Given the description of an element on the screen output the (x, y) to click on. 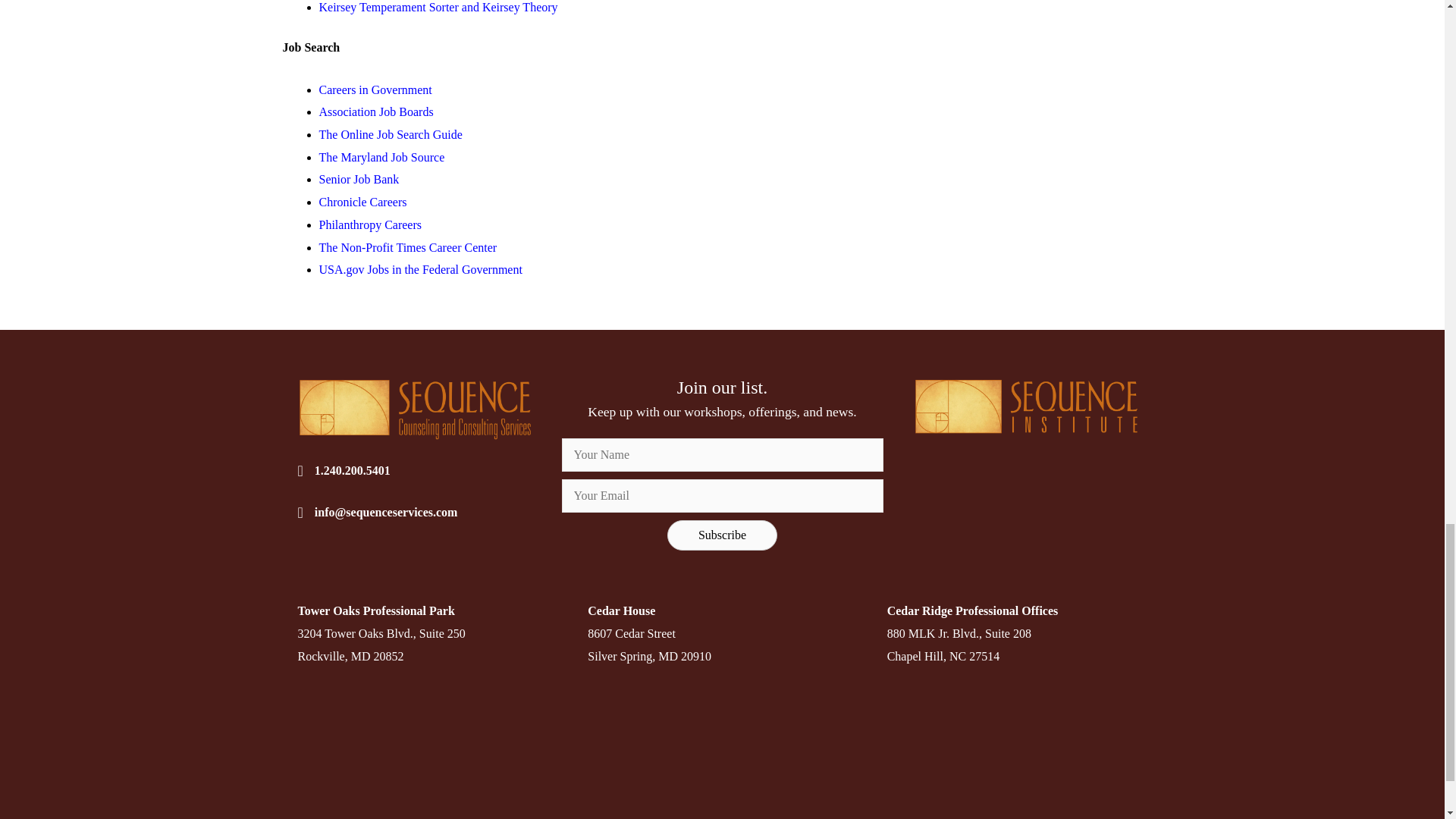
SequenceInstitute (1029, 407)
SequenceLogo (414, 408)
Click Here (721, 535)
